Given the description of an element on the screen output the (x, y) to click on. 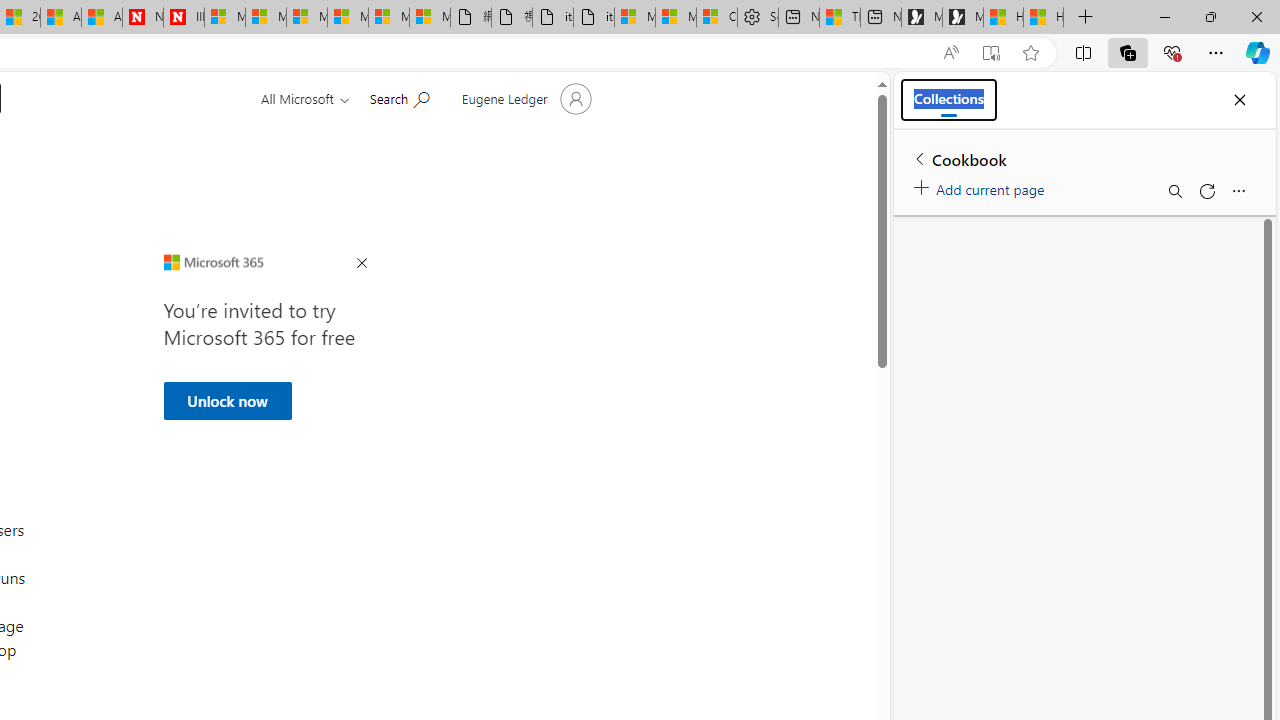
How to Use a TV as a Computer Monitor (1043, 17)
Consumer Health Data Privacy Policy (717, 17)
Illness news & latest pictures from Newsweek.com (183, 17)
Newsweek - News, Analysis, Politics, Business, Technology (142, 17)
itconcepthk.com/projector_solutions.mp4 (593, 17)
